Given the description of an element on the screen output the (x, y) to click on. 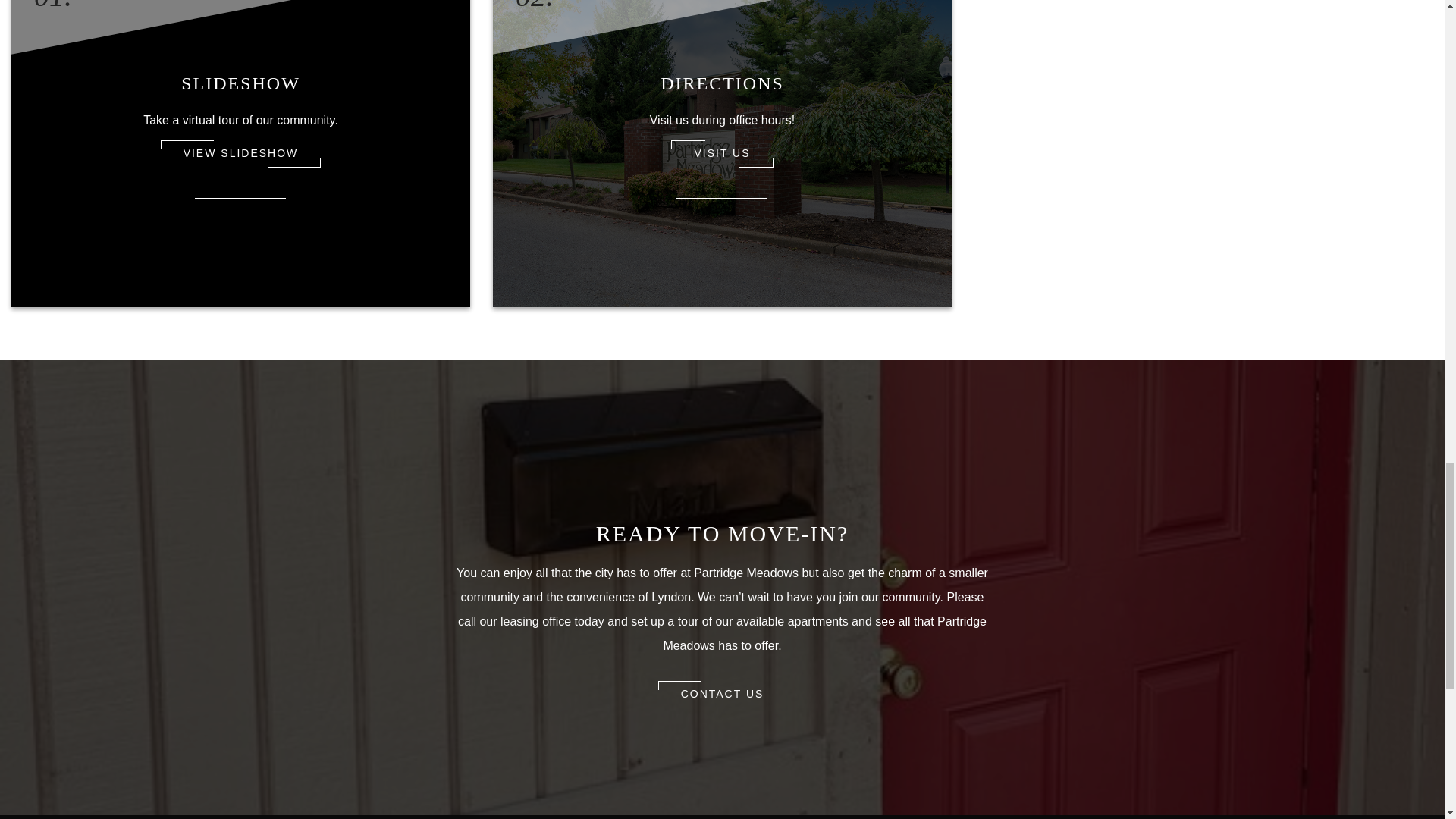
VISIT US (722, 153)
VIEW SLIDESHOW (240, 153)
CONTACT US (722, 694)
